Given the description of an element on the screen output the (x, y) to click on. 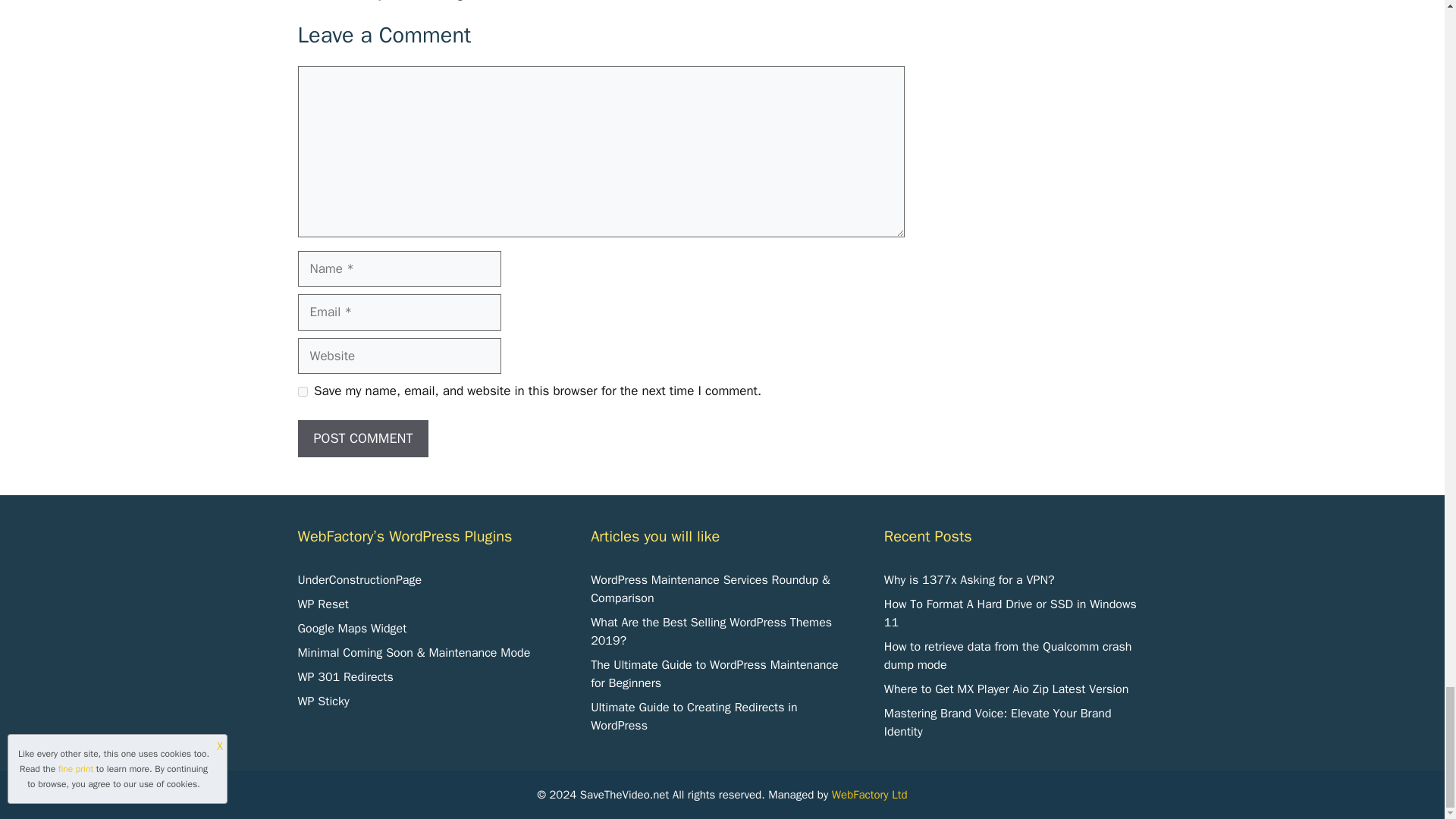
Post Comment (362, 438)
yes (302, 390)
Google Maps Widget (351, 628)
UnderConstructionPage (359, 580)
Post Comment (362, 438)
WP Reset (322, 604)
